Given the description of an element on the screen output the (x, y) to click on. 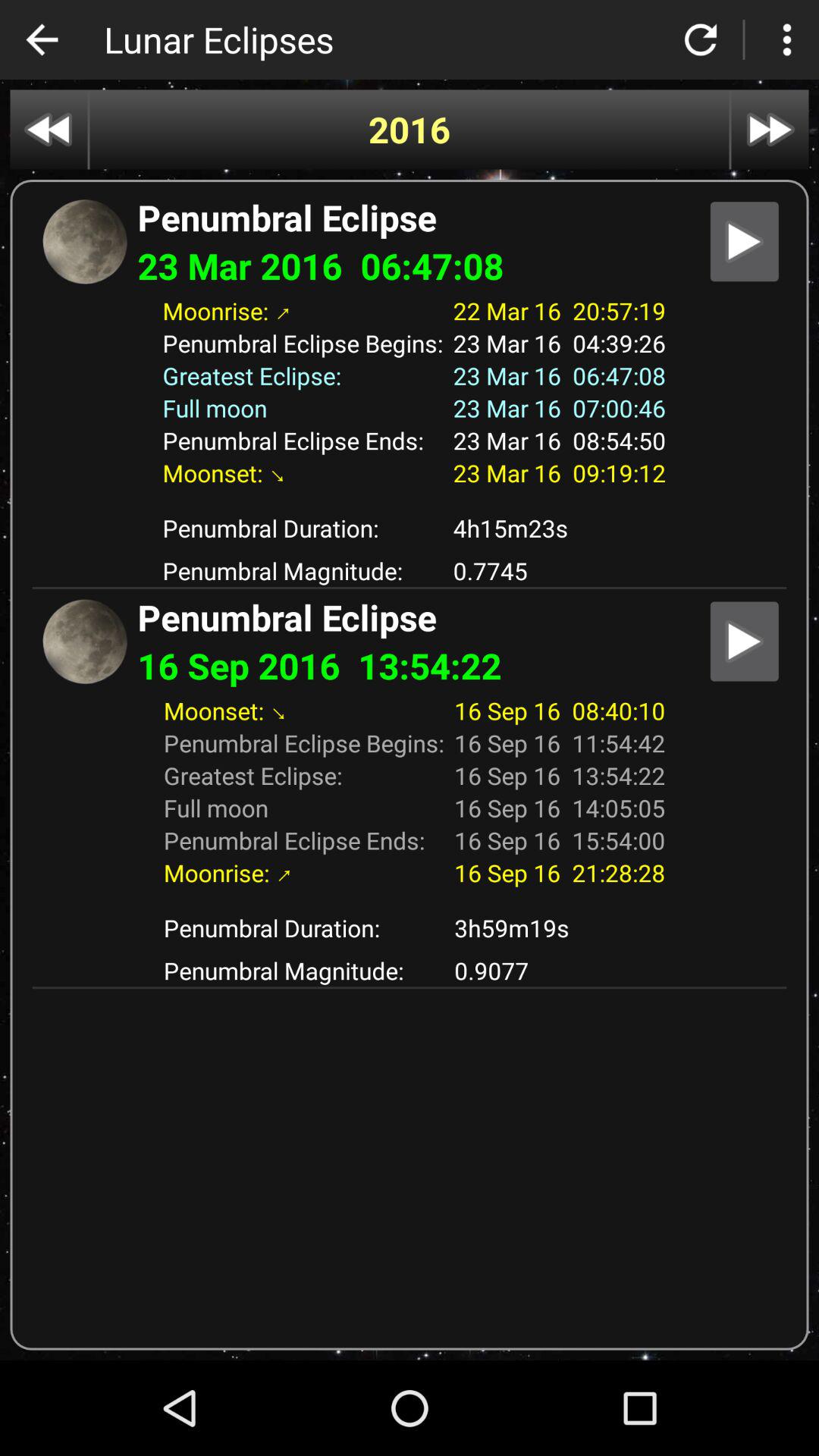
previous year button (48, 129)
